Given the description of an element on the screen output the (x, y) to click on. 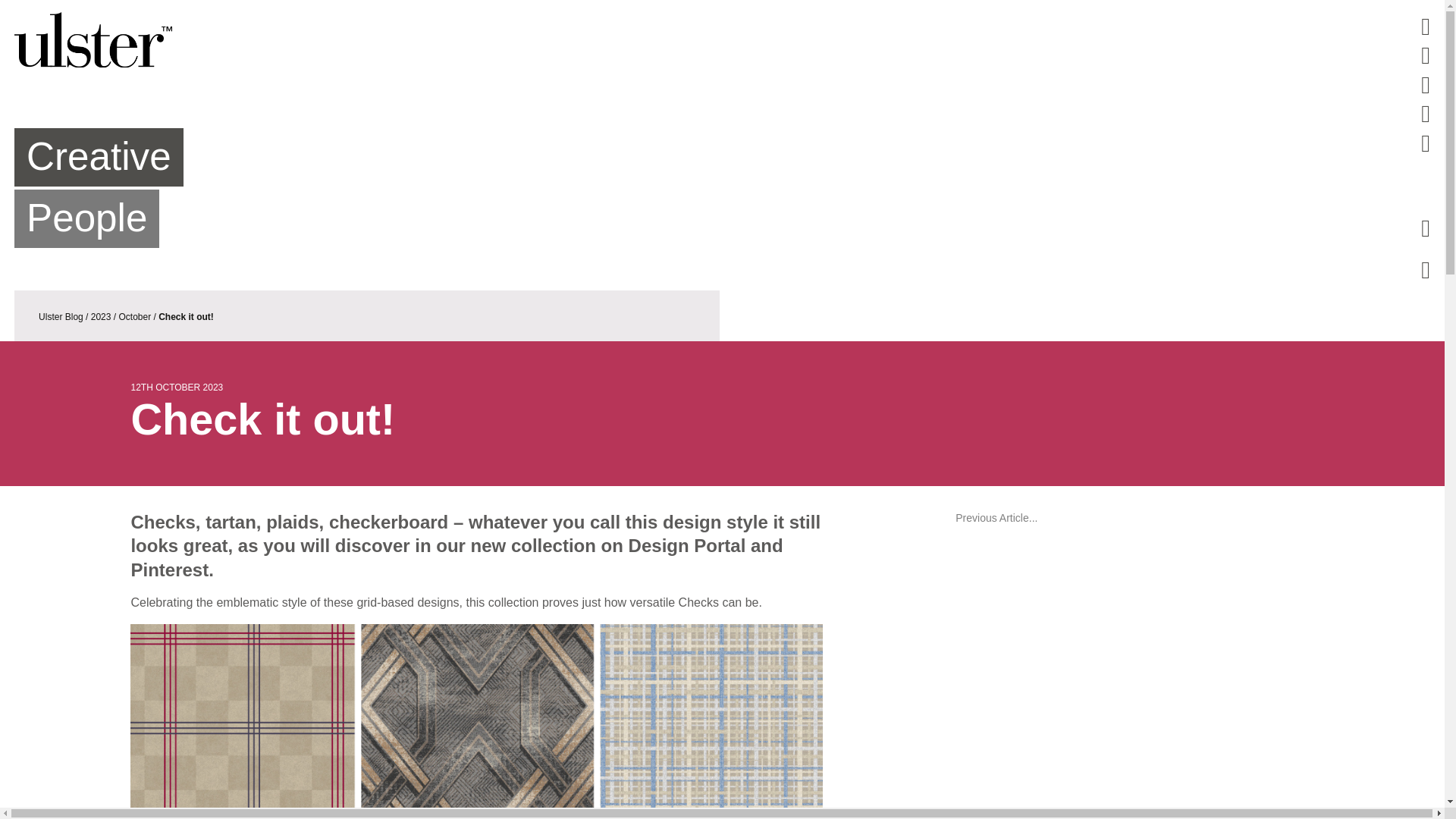
Ulster Design Blog (721, 39)
LinkedIn (1425, 84)
Pinterest (1425, 26)
Facebook (1425, 54)
